Given the description of an element on the screen output the (x, y) to click on. 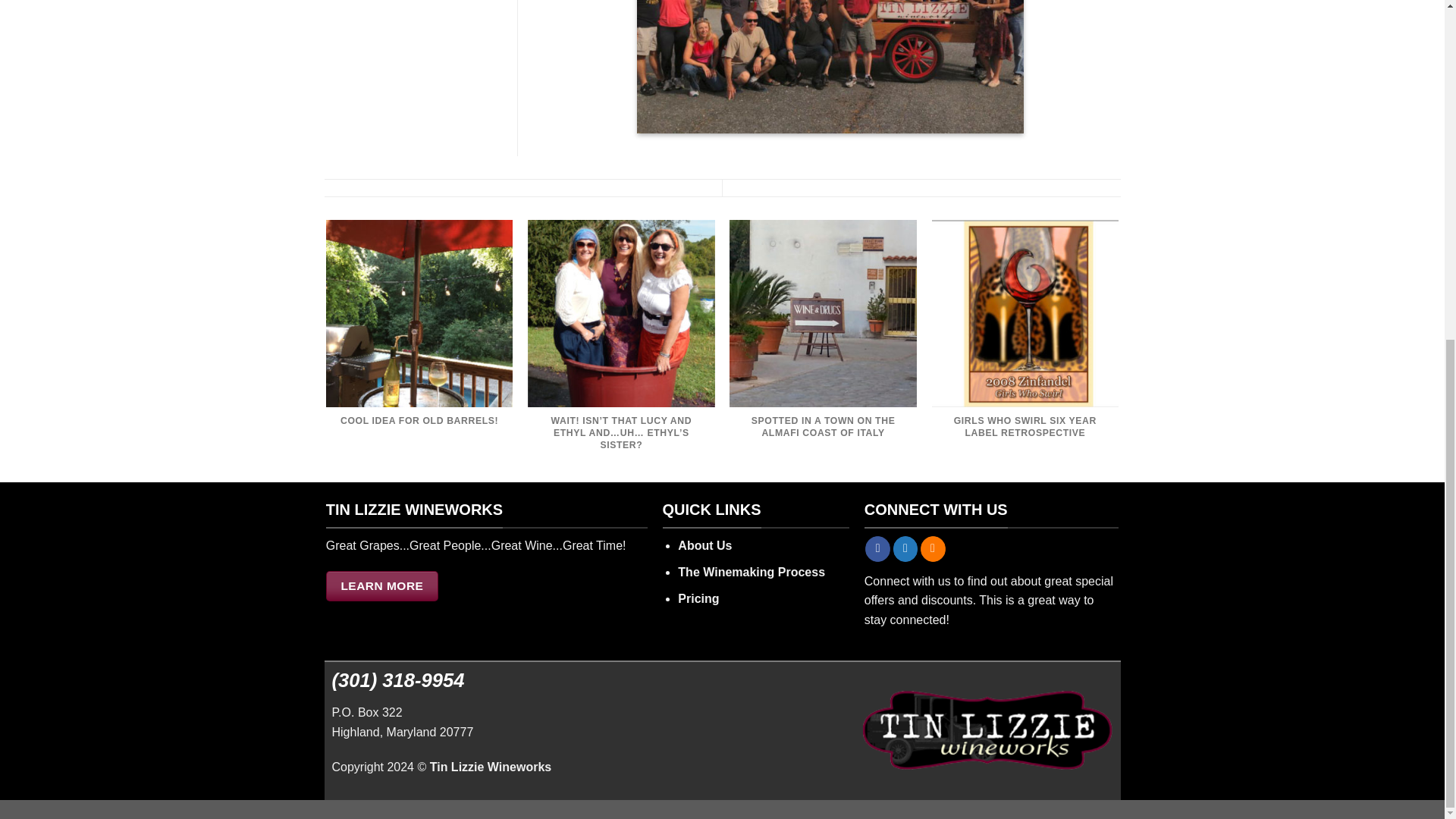
About Us (705, 545)
Subscribe to RSS (932, 548)
Pricing (698, 598)
Follow on Facebook (876, 548)
LEARN MORE (382, 585)
Follow on Twitter (905, 548)
The Winemaking Process (751, 571)
